Given the description of an element on the screen output the (x, y) to click on. 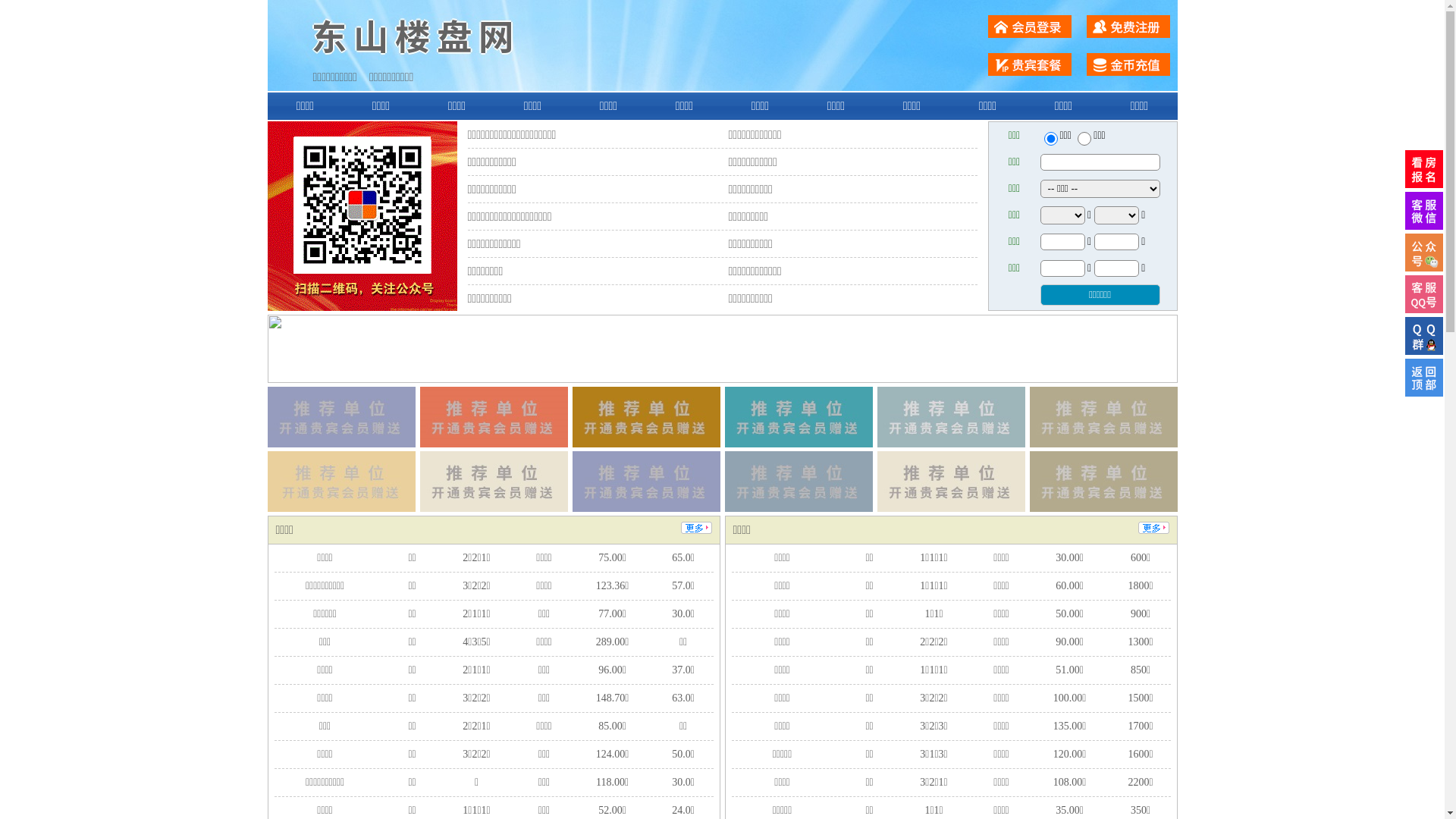
ershou Element type: text (1050, 138)
chuzu Element type: text (1084, 138)
